Given the description of an element on the screen output the (x, y) to click on. 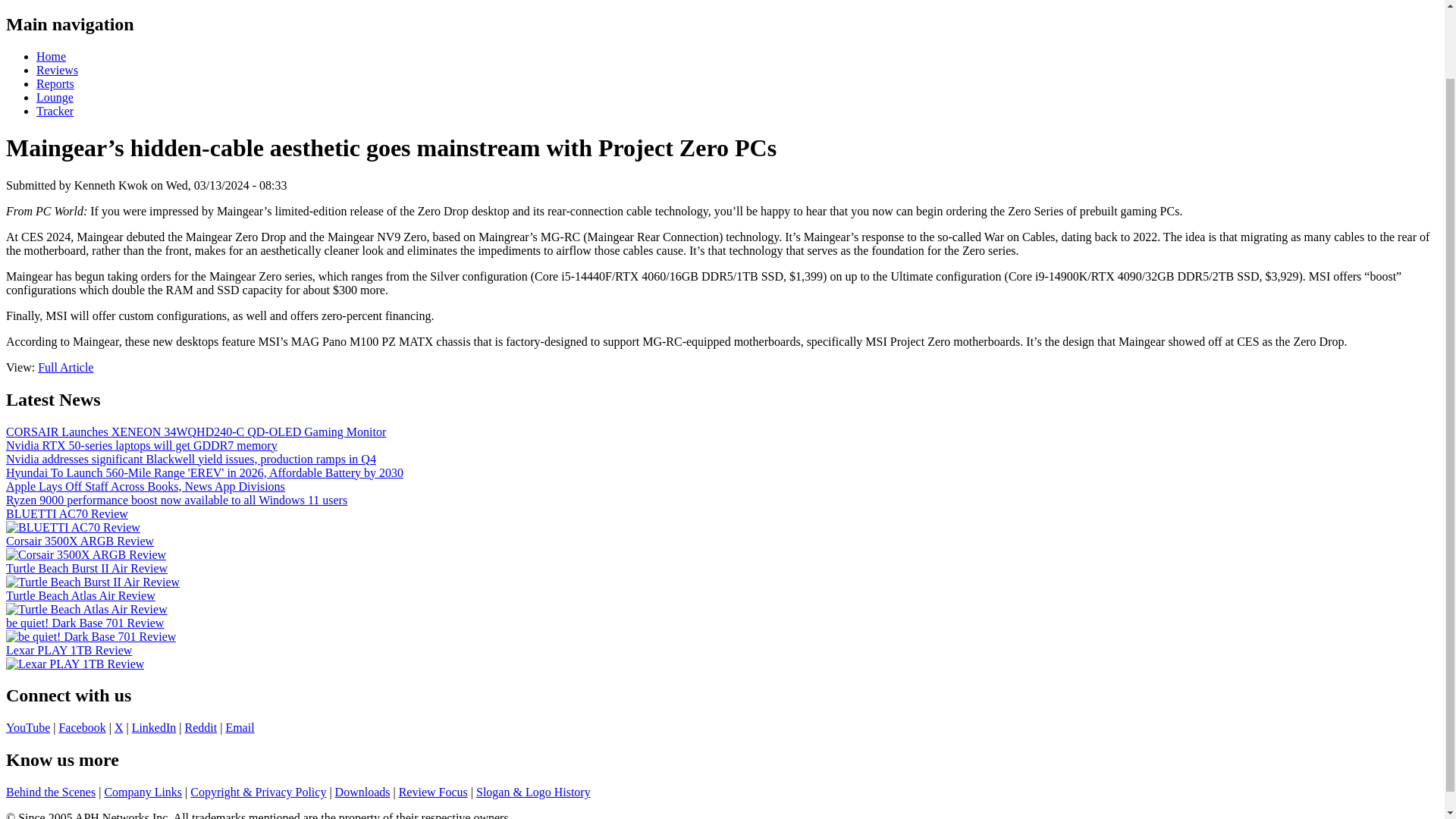
Home (50, 56)
Apple Lays Off Staff Across Books, News App Divisions (145, 485)
Facebook (81, 727)
Lounge (55, 97)
Reviews (57, 69)
Behind the Scenes (50, 791)
Nvidia RTX 50-series laptops will get GDDR7 memory (141, 444)
Wednesday, March 13, 2024 - 08:33 (225, 185)
Company Links (142, 791)
